Given the description of an element on the screen output the (x, y) to click on. 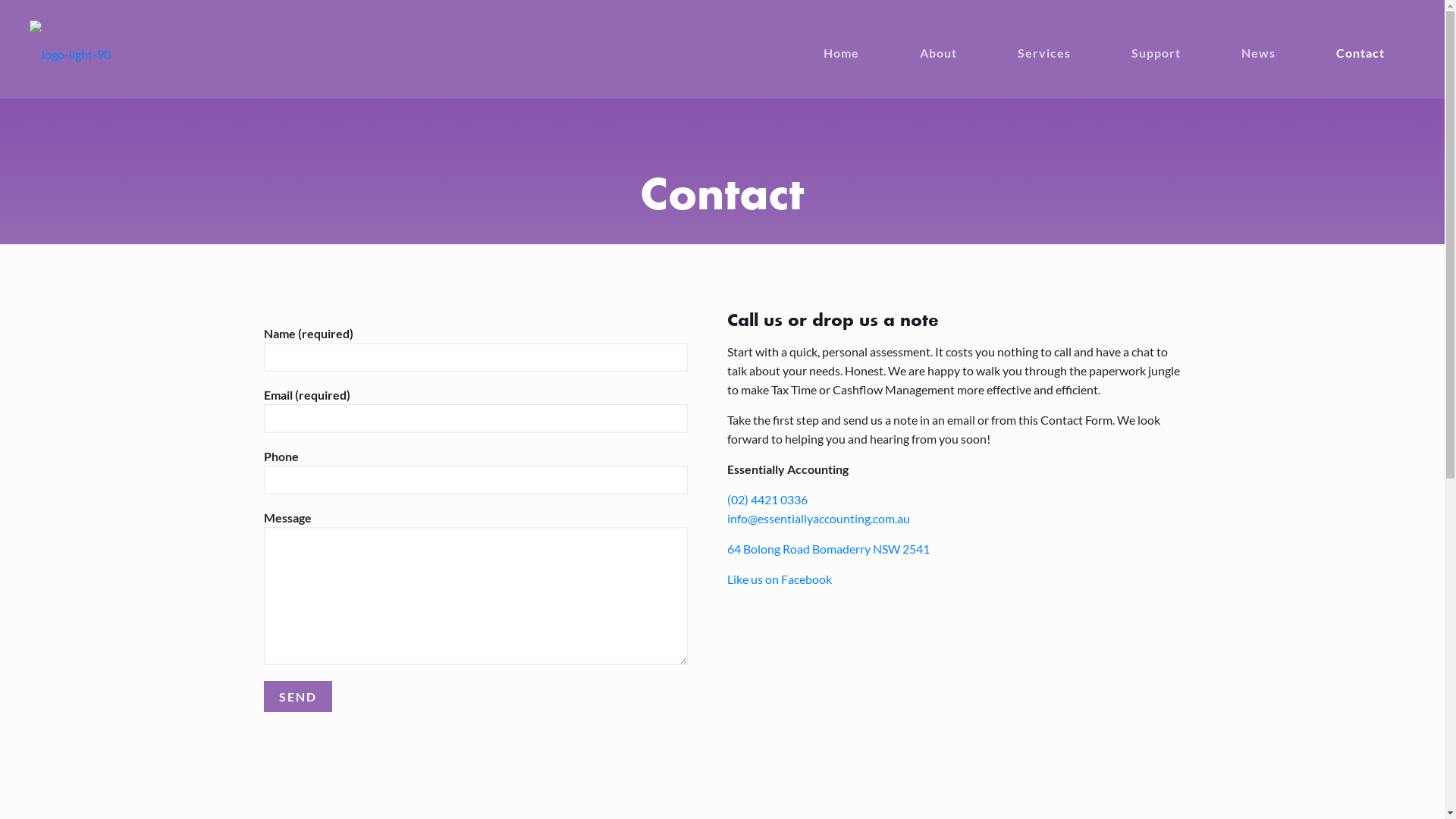
(02) 4421 0336 Element type: text (767, 499)
Home Element type: text (856, 41)
64 Bolong Road Bomaderry NSW 2541 Element type: text (828, 548)
About Element type: text (953, 41)
Services Element type: text (1059, 41)
Send Element type: text (297, 696)
News Element type: text (1273, 41)
Like us on Facebook Element type: text (779, 578)
info@essentiallyaccounting.com.au Element type: text (818, 518)
Essentially Accounting Element type: hover (69, 52)
Contact Element type: text (1375, 41)
Support Element type: text (1171, 41)
